Given the description of an element on the screen output the (x, y) to click on. 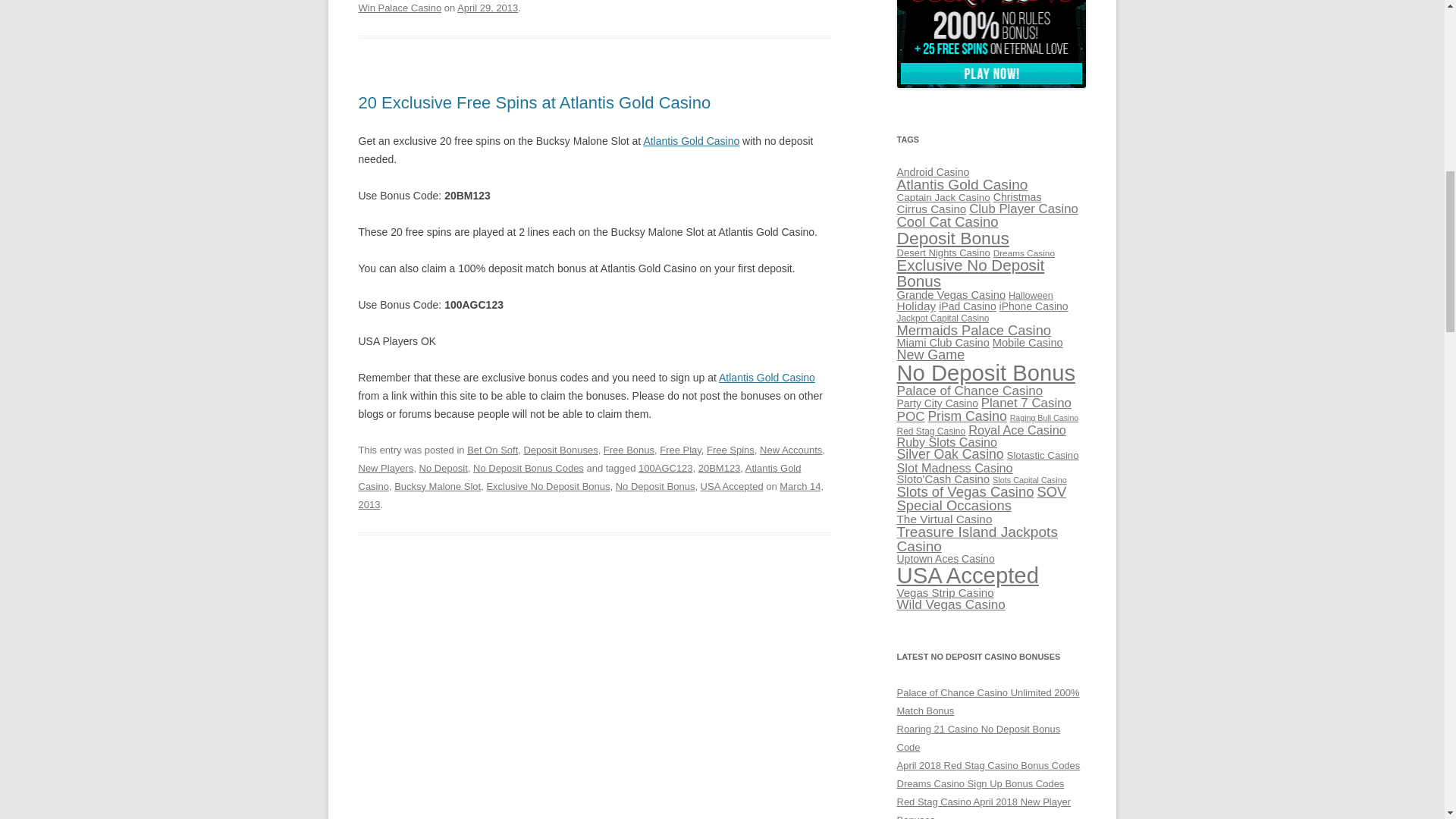
3:44 am (591, 495)
Prism Casino No Rules Bonus Plus Free Spins (991, 43)
4:05 pm (487, 7)
